Given the description of an element on the screen output the (x, y) to click on. 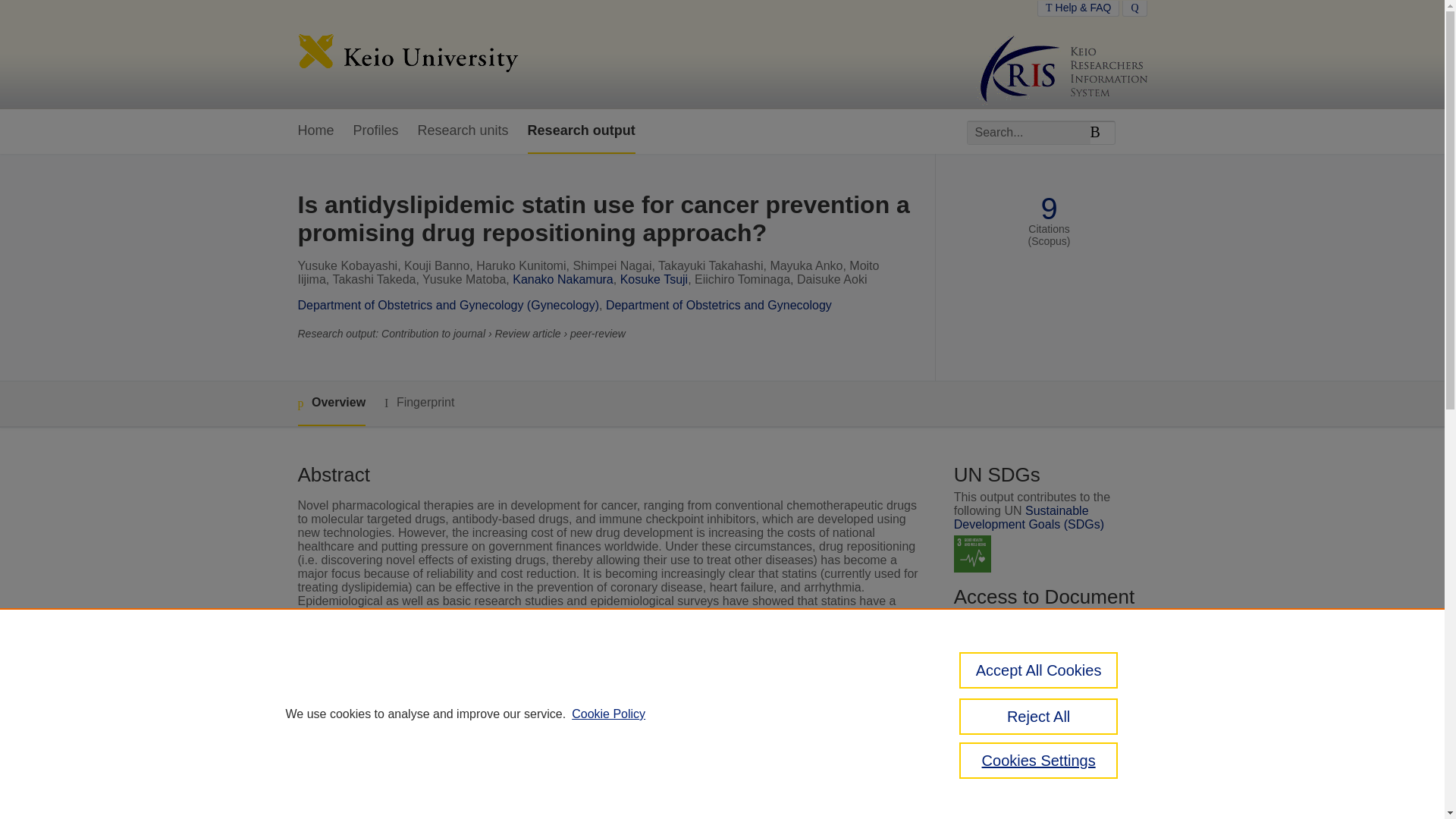
SDG 3 - Good Health and Well-being (972, 553)
Research output (580, 130)
Overview (331, 403)
Link to publication in Scopus (1045, 692)
Kanako Nakamura (562, 278)
Link to the citations in Scopus (1048, 717)
European Journal of Cancer Prevention (613, 787)
Kosuke Tsuji (654, 278)
Profiles (375, 130)
